Given the description of an element on the screen output the (x, y) to click on. 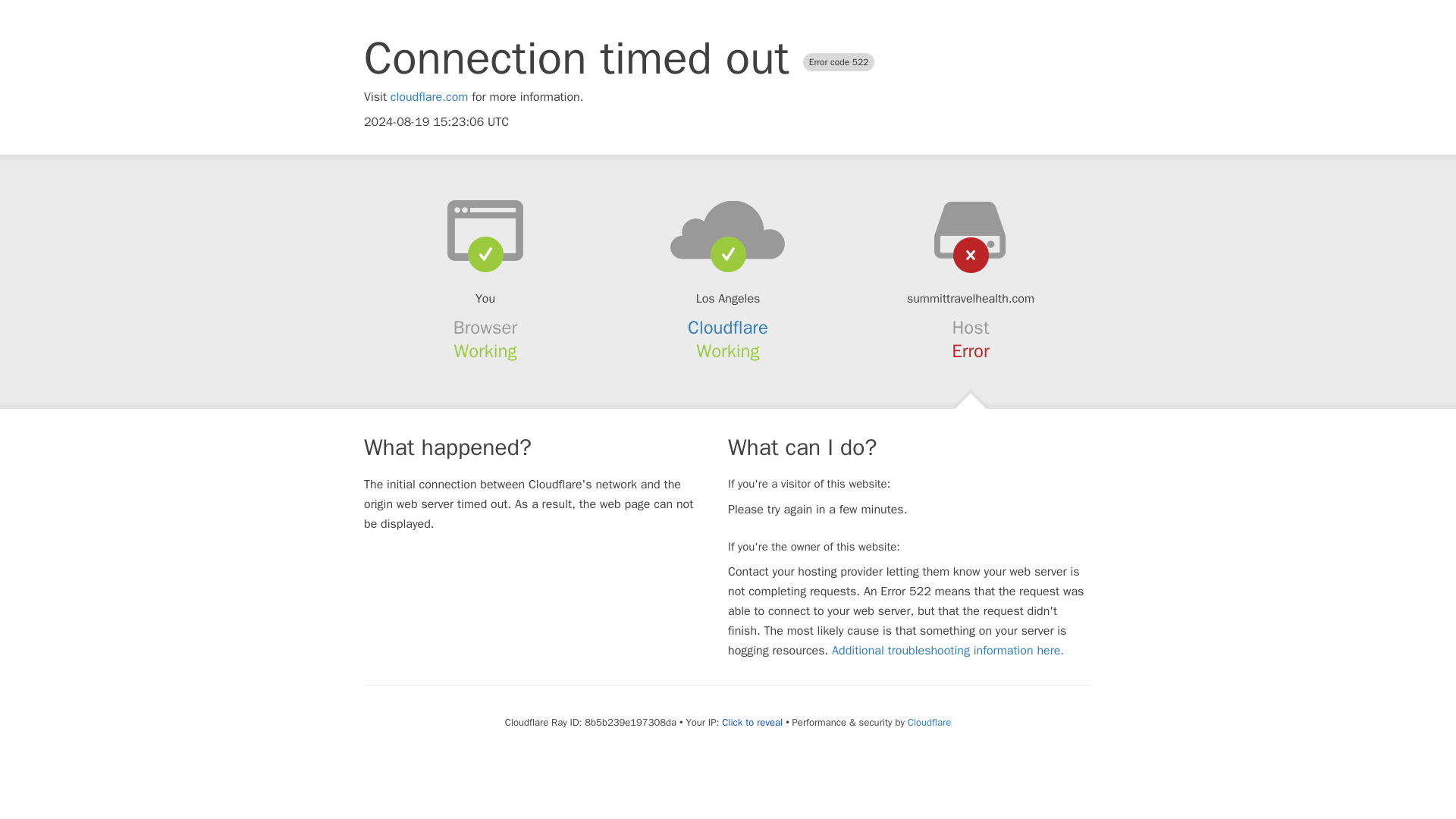
Cloudflare (928, 721)
Cloudflare (727, 327)
Additional troubleshooting information here. (947, 650)
Click to reveal (752, 722)
cloudflare.com (429, 96)
